Given the description of an element on the screen output the (x, y) to click on. 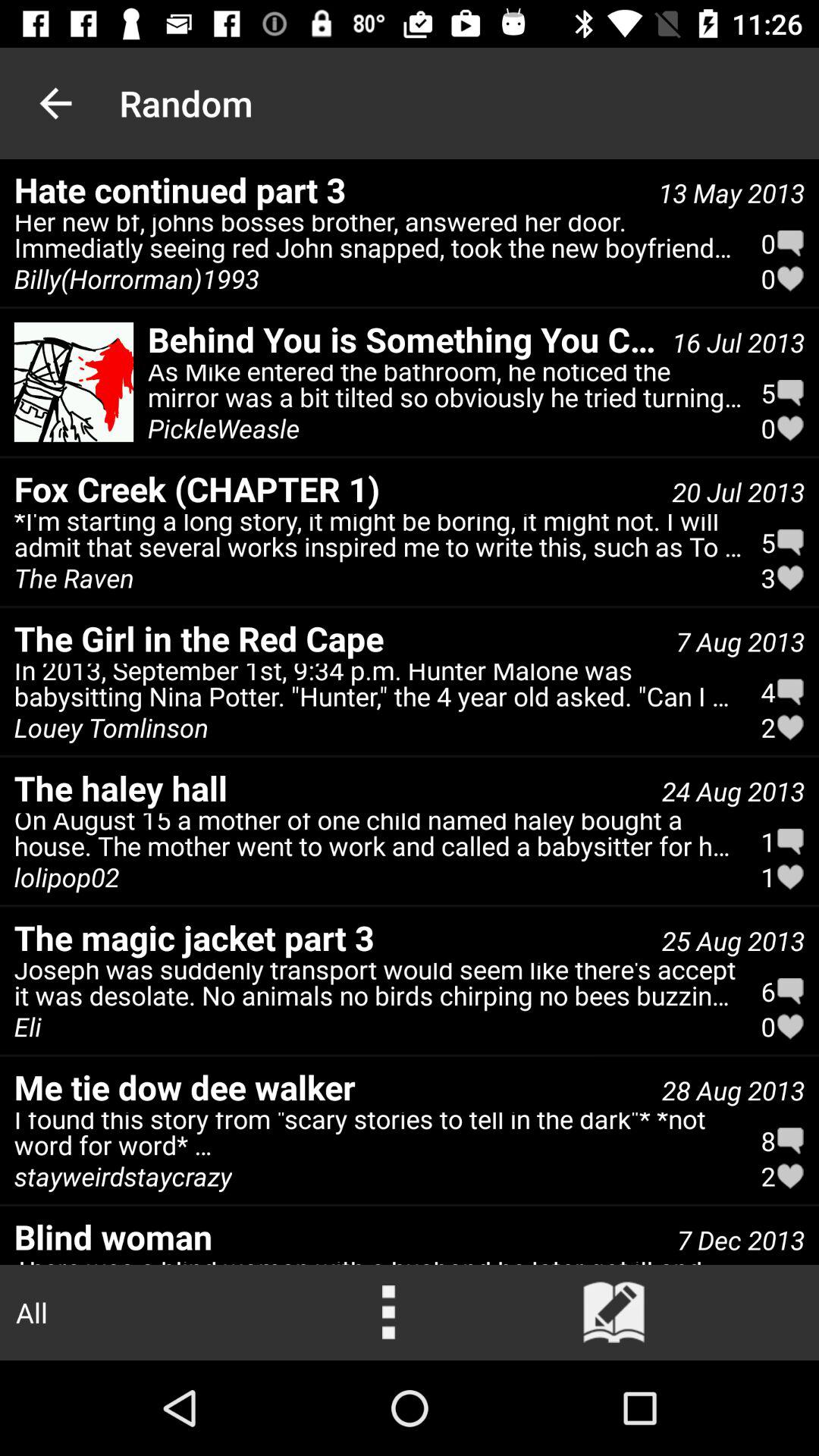
press icon below the the magic jacket item (378, 988)
